Given the description of an element on the screen output the (x, y) to click on. 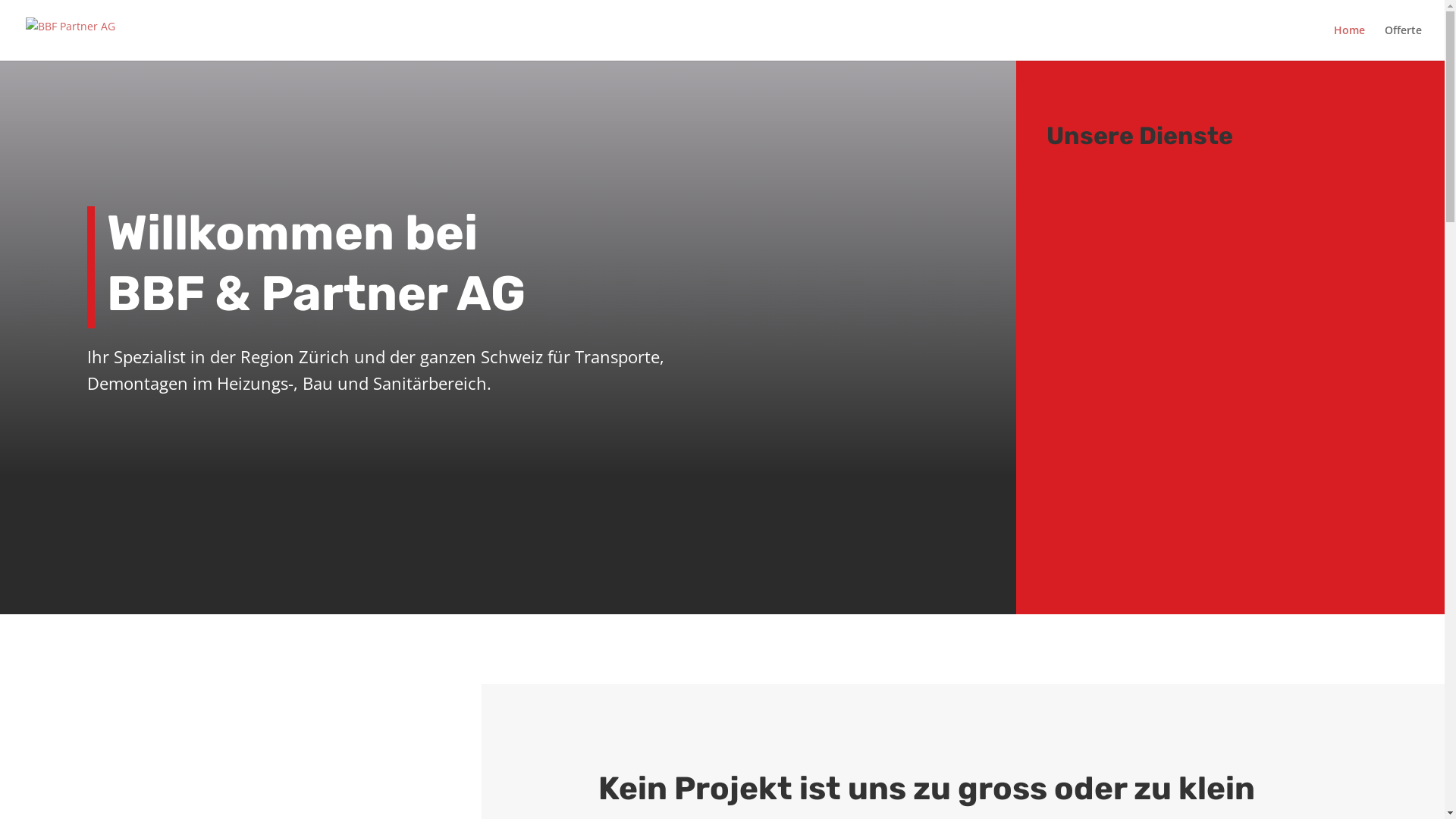
Home Element type: text (1349, 42)
Offerte Element type: text (1402, 42)
